Given the description of an element on the screen output the (x, y) to click on. 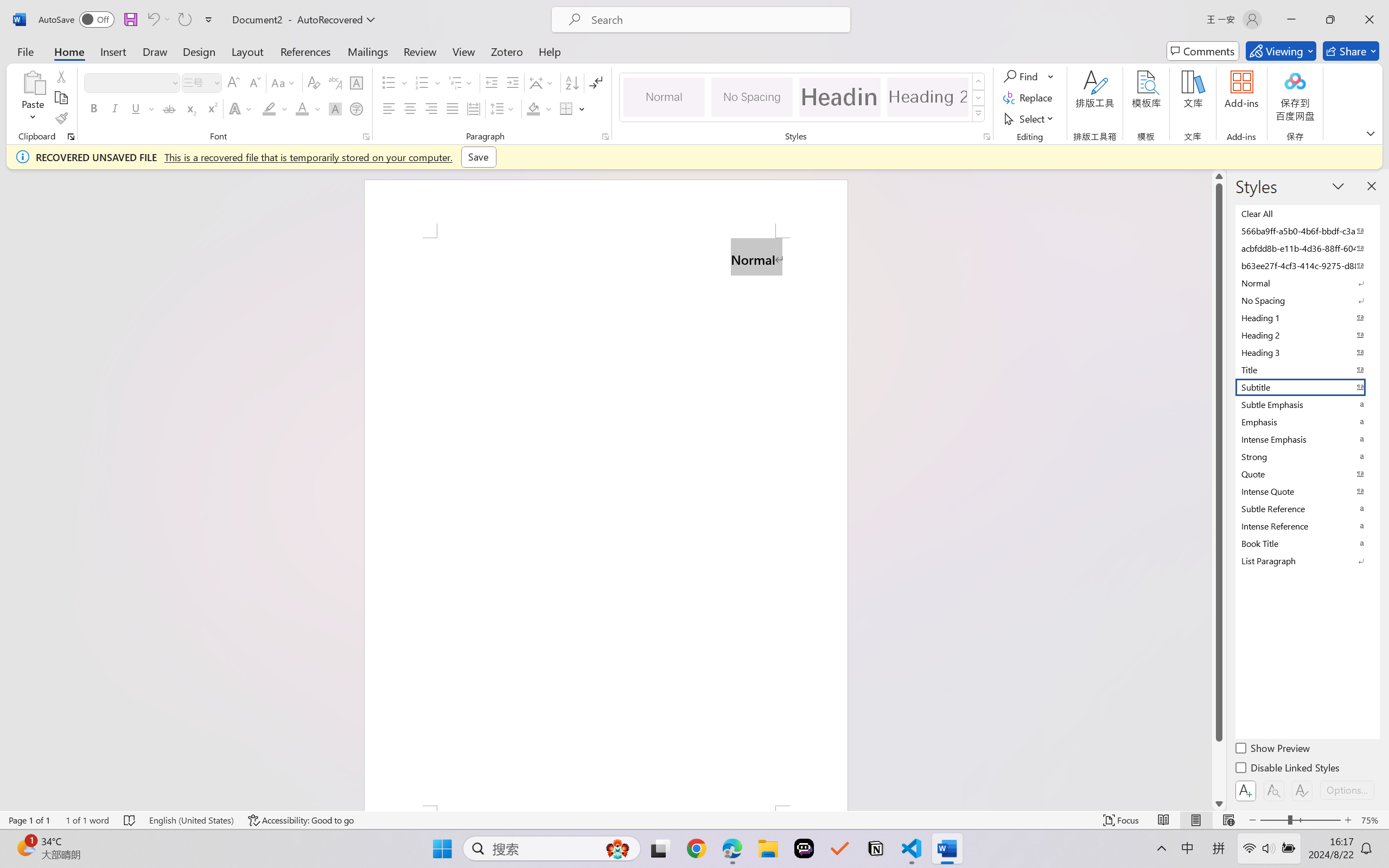
acbfdd8b-e11b-4d36-88ff-6049b138f862 (1306, 247)
Line down (1219, 803)
Multilevel List (461, 82)
Copy (60, 97)
Disable Linked Styles (1287, 769)
Intense Quote (1306, 490)
Decrease Indent (491, 82)
Styles... (986, 136)
